Given the description of an element on the screen output the (x, y) to click on. 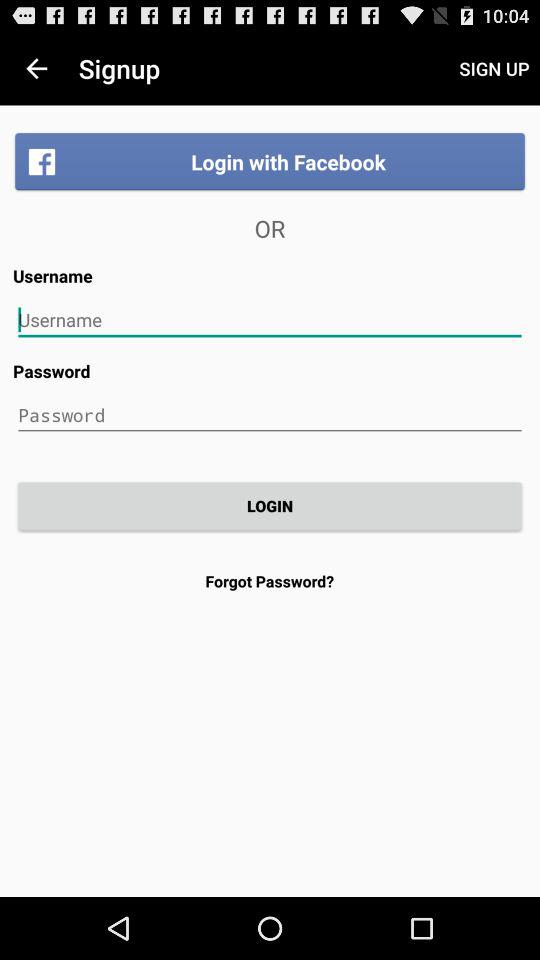
type username (269, 320)
